Given the description of an element on the screen output the (x, y) to click on. 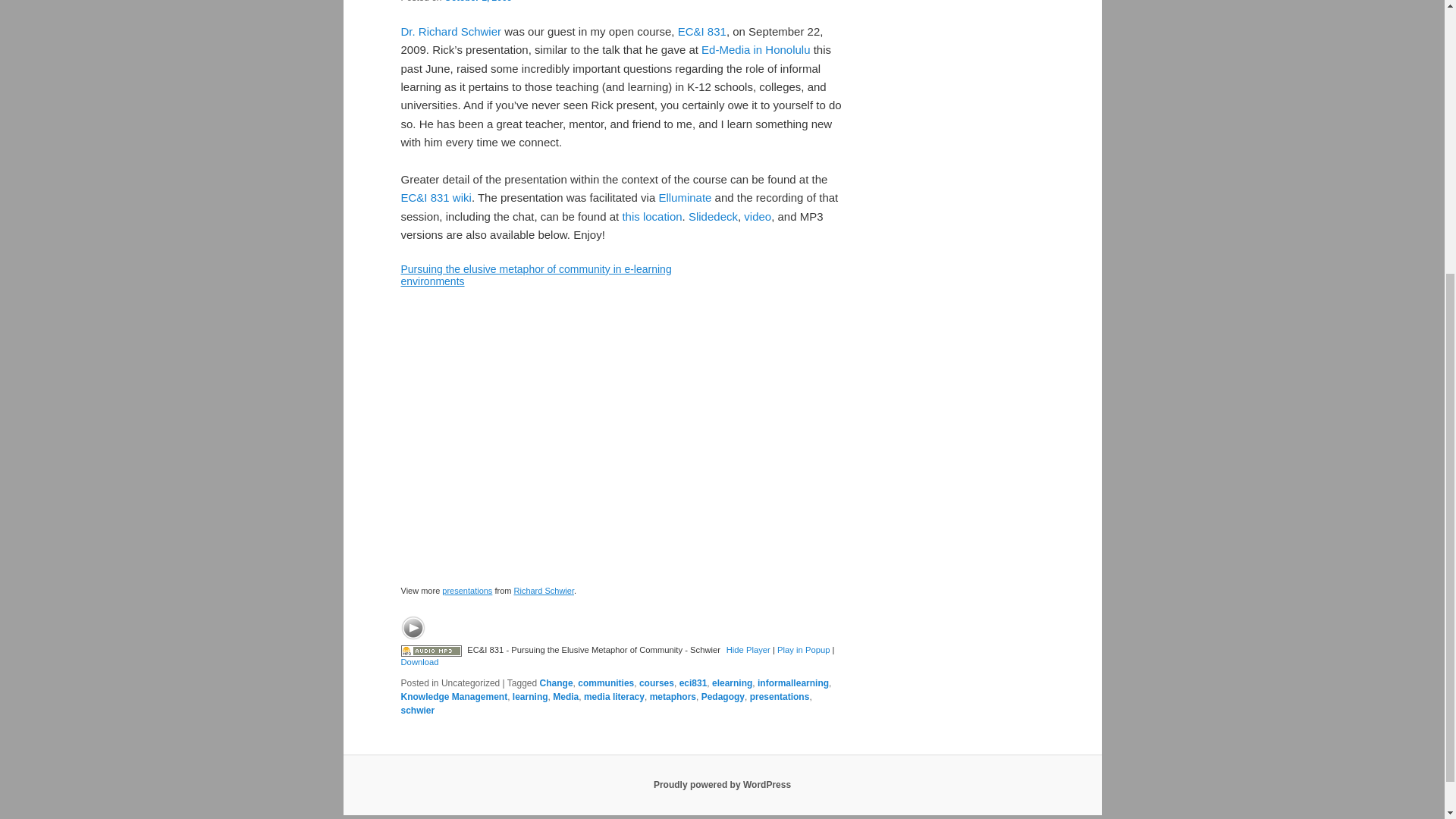
Slidedeck (713, 215)
Media (565, 696)
presentations (779, 696)
Dr. Richard Schwier (450, 31)
Semantic Personal Publishing Platform (721, 784)
presentations (467, 590)
Richard Schwier (543, 590)
7:59 pm (478, 1)
eci831 (693, 683)
Play in Popup (803, 649)
learning (530, 696)
courses (656, 683)
informallearning (792, 683)
Ed-Media in Honolulu (755, 49)
Elluminate (684, 196)
